Given the description of an element on the screen output the (x, y) to click on. 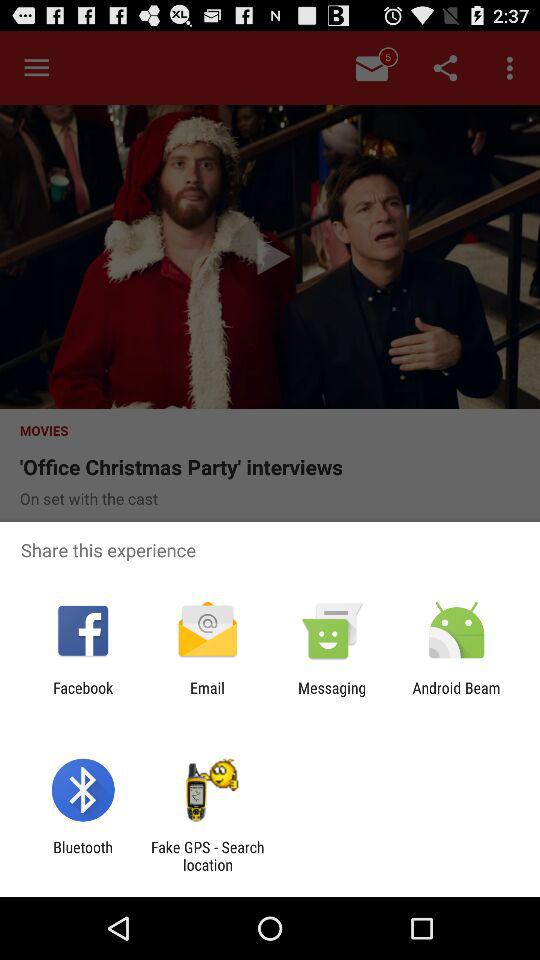
press item to the right of the facebook app (207, 696)
